Given the description of an element on the screen output the (x, y) to click on. 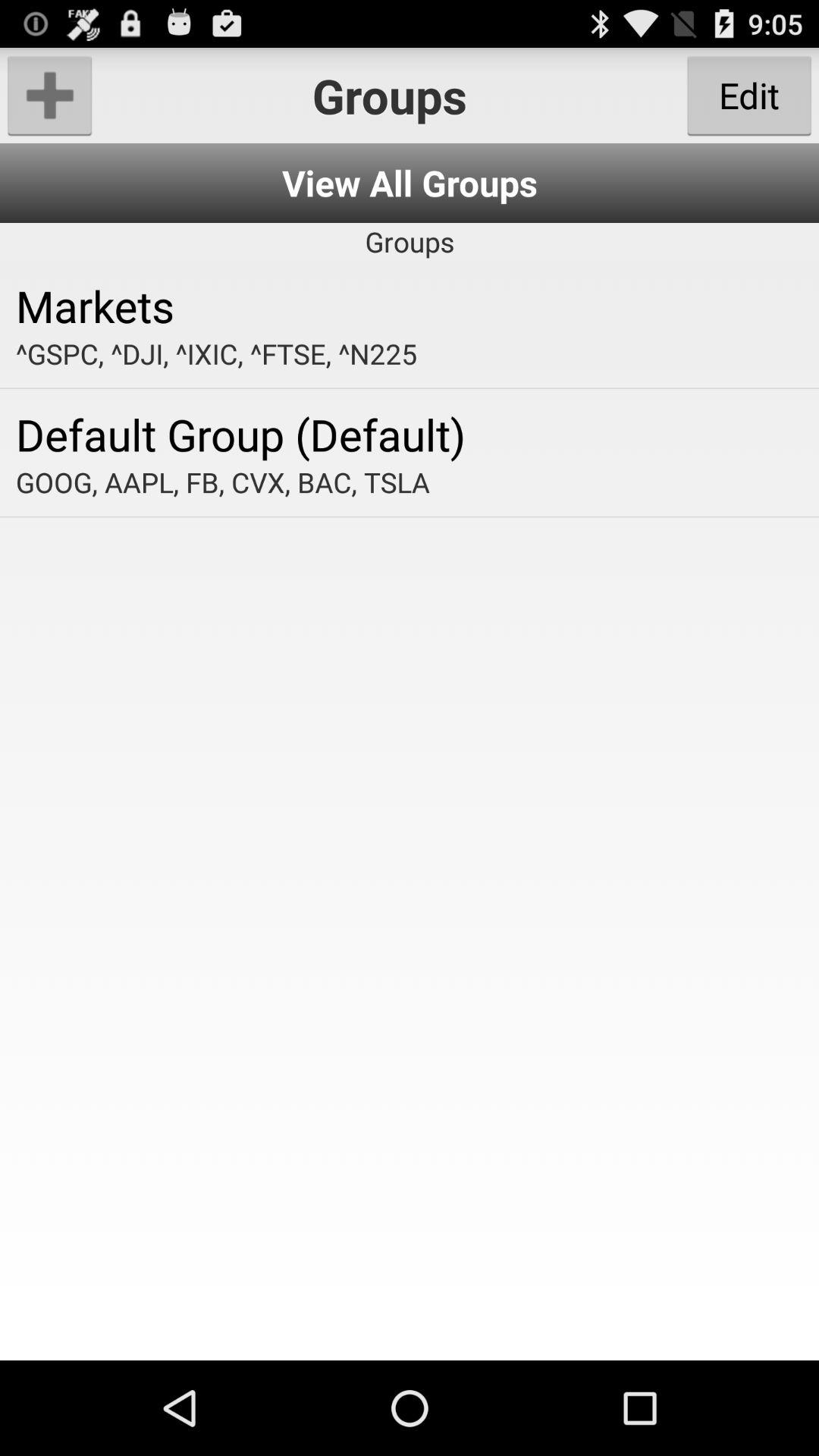
click add option (49, 95)
